Given the description of an element on the screen output the (x, y) to click on. 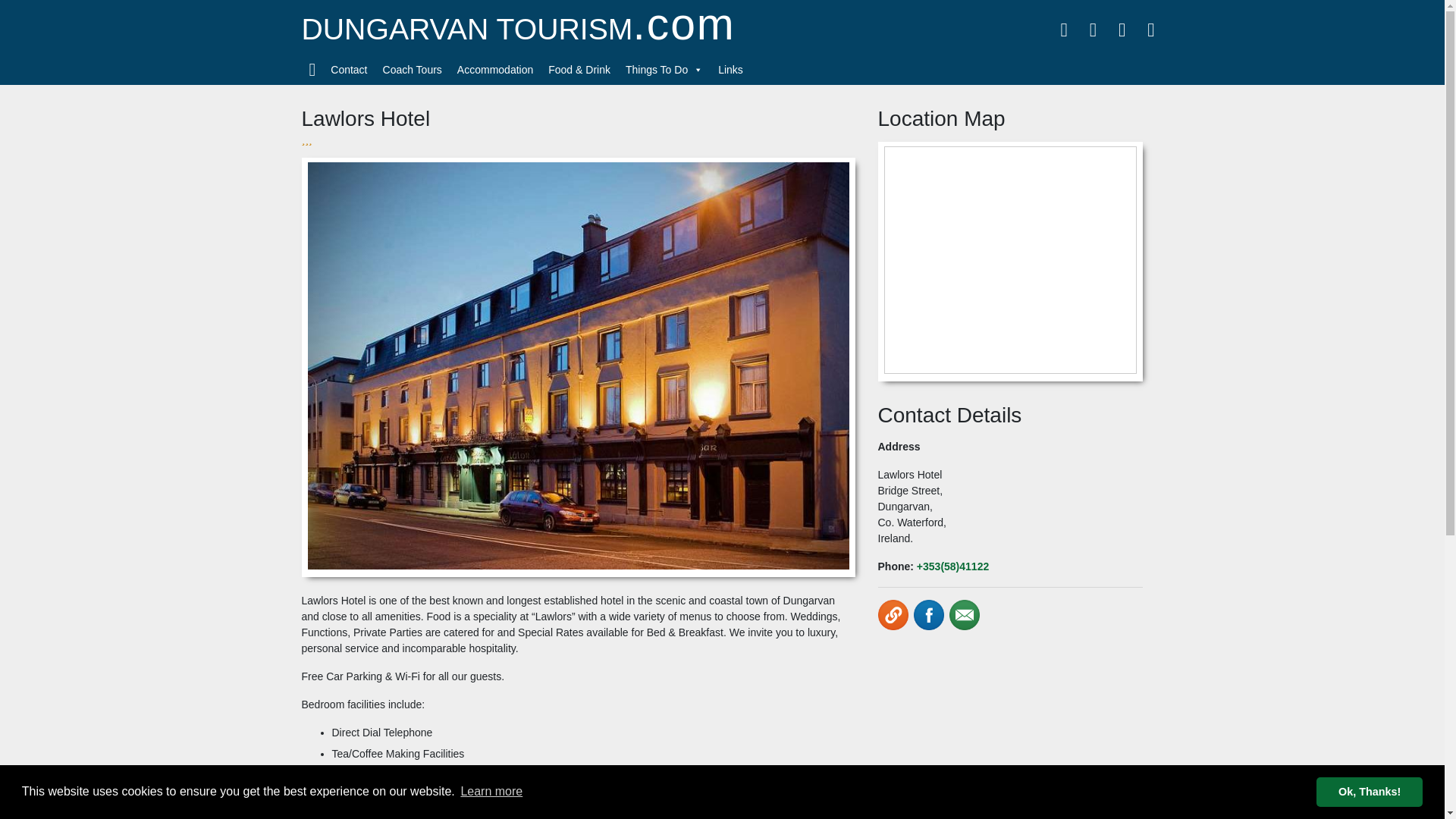
Contact (348, 69)
Send us an email (964, 614)
Ok, Thanks! (1369, 791)
View our website (892, 614)
Learn more (491, 791)
Accommodation (494, 69)
View our Facebook page (927, 614)
Links (730, 69)
Coach Tours (412, 69)
Things To Do (663, 69)
